Given the description of an element on the screen output the (x, y) to click on. 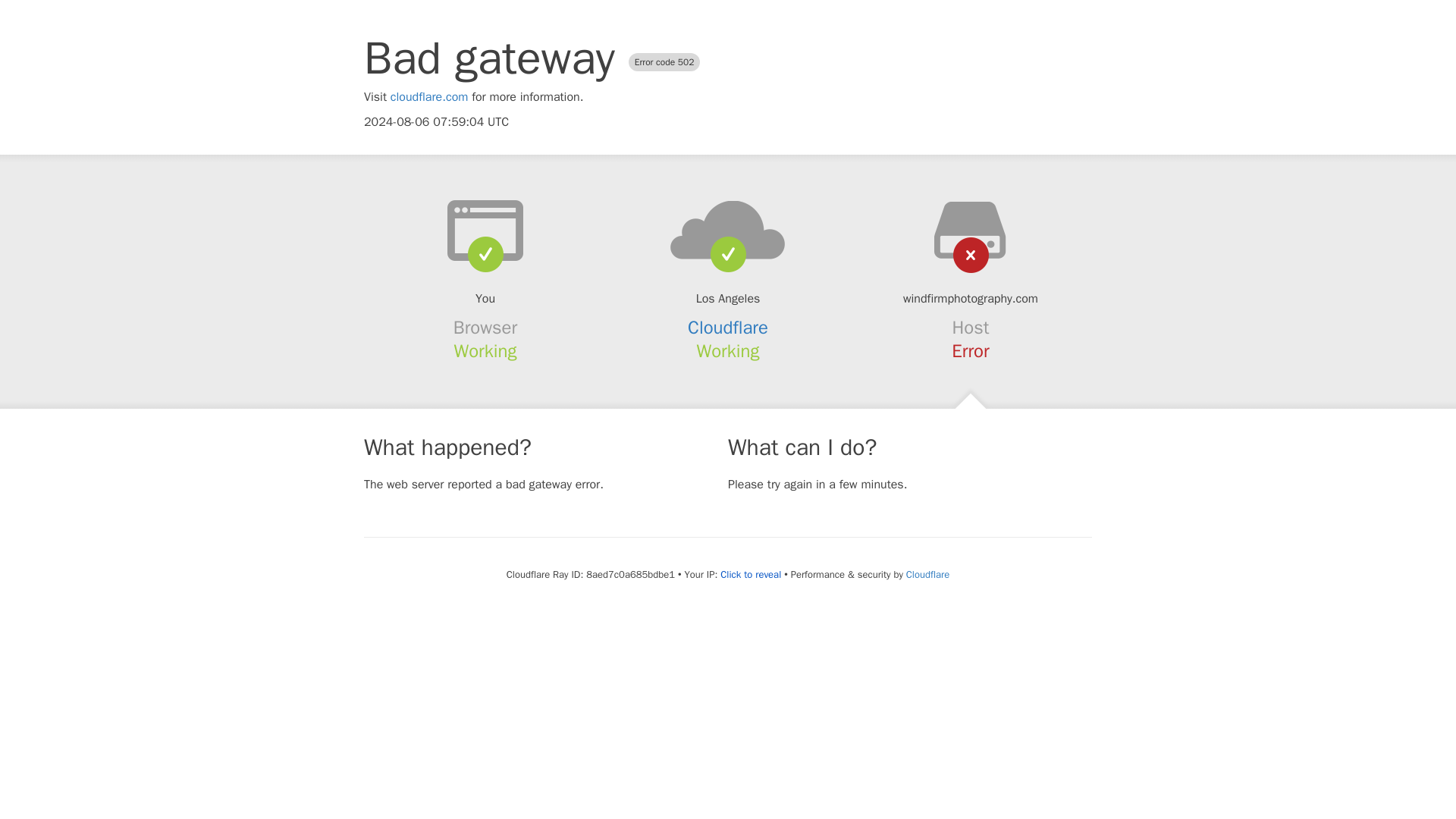
Click to reveal (750, 574)
Cloudflare (727, 327)
cloudflare.com (429, 96)
Cloudflare (927, 574)
